Given the description of an element on the screen output the (x, y) to click on. 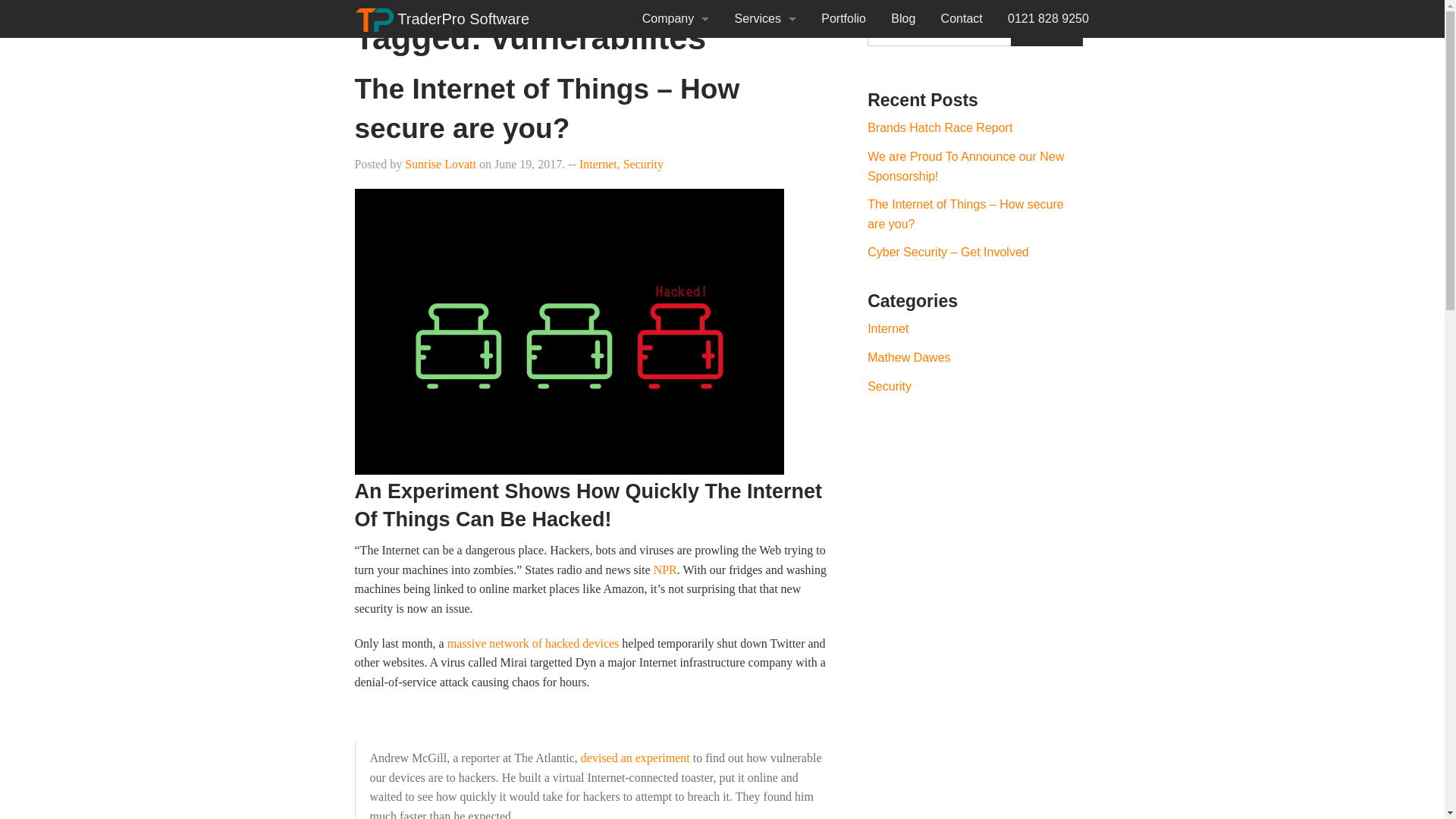
Blog (903, 18)
We are Proud To Announce our New Sponsorship! (965, 165)
massive network of hacked devices (533, 643)
Brands Hatch Race Report (939, 127)
Portfolio (844, 18)
0121 828 9250 (1047, 18)
Internet (887, 328)
Search (1045, 31)
Company (675, 18)
Security (643, 164)
Contact (961, 18)
devised an experiment (635, 757)
Internet (598, 164)
NPR (665, 569)
Security (889, 385)
